Given the description of an element on the screen output the (x, y) to click on. 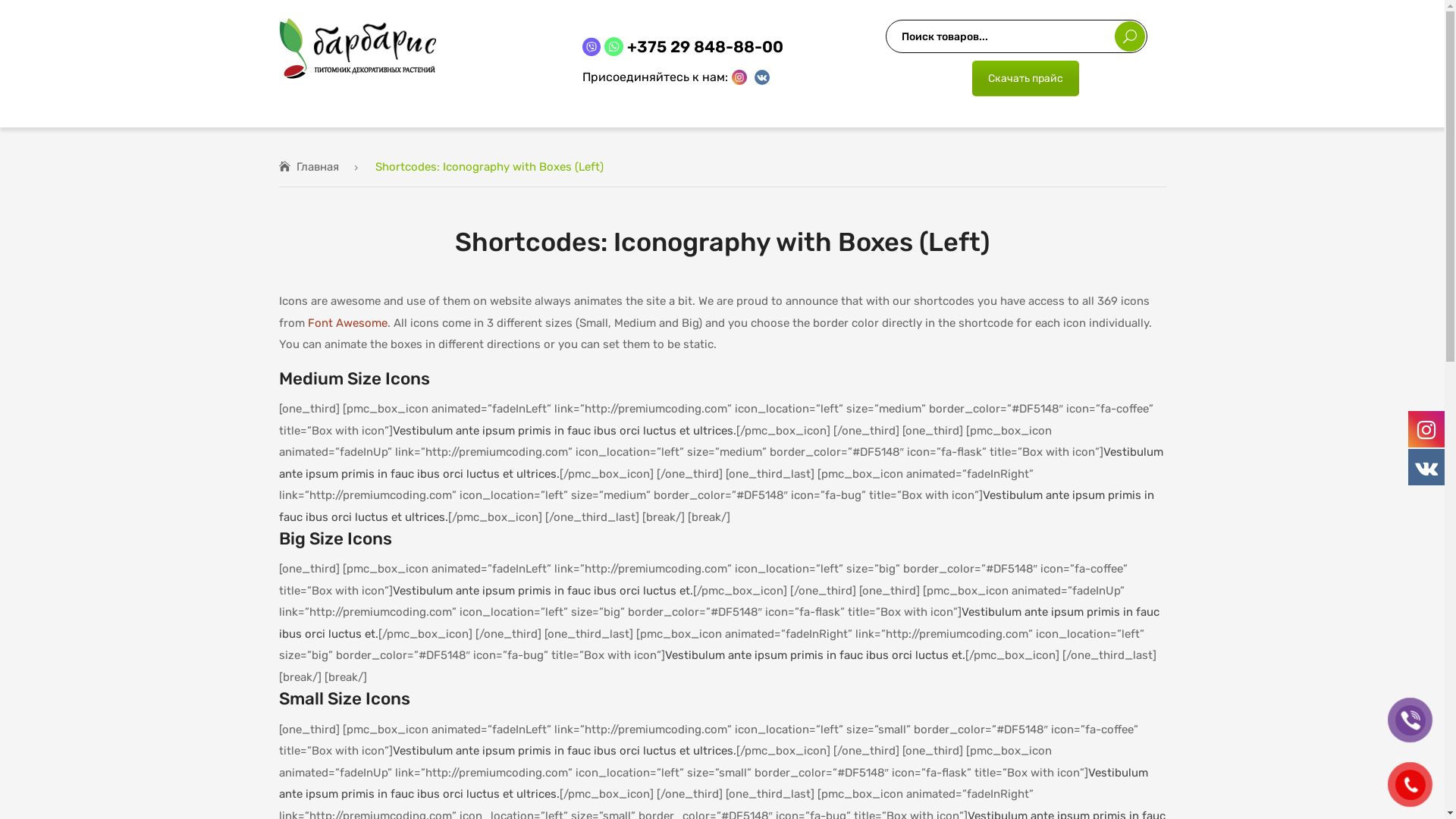
Font Awesome Element type: text (347, 322)
+375 29 848-88-00 Element type: text (705, 46)
